Given the description of an element on the screen output the (x, y) to click on. 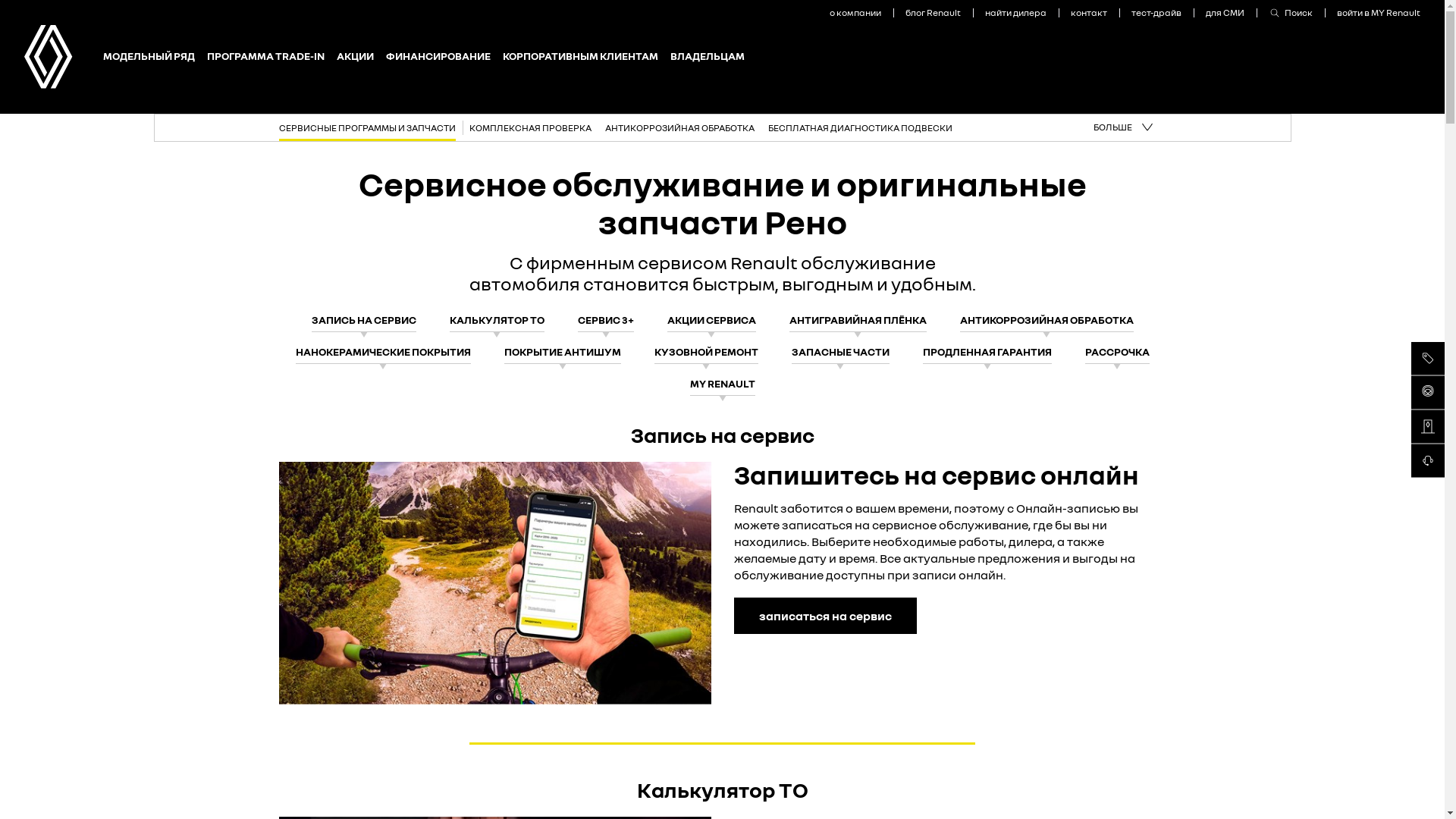
MY RENAULT Element type: text (722, 382)
